Given the description of an element on the screen output the (x, y) to click on. 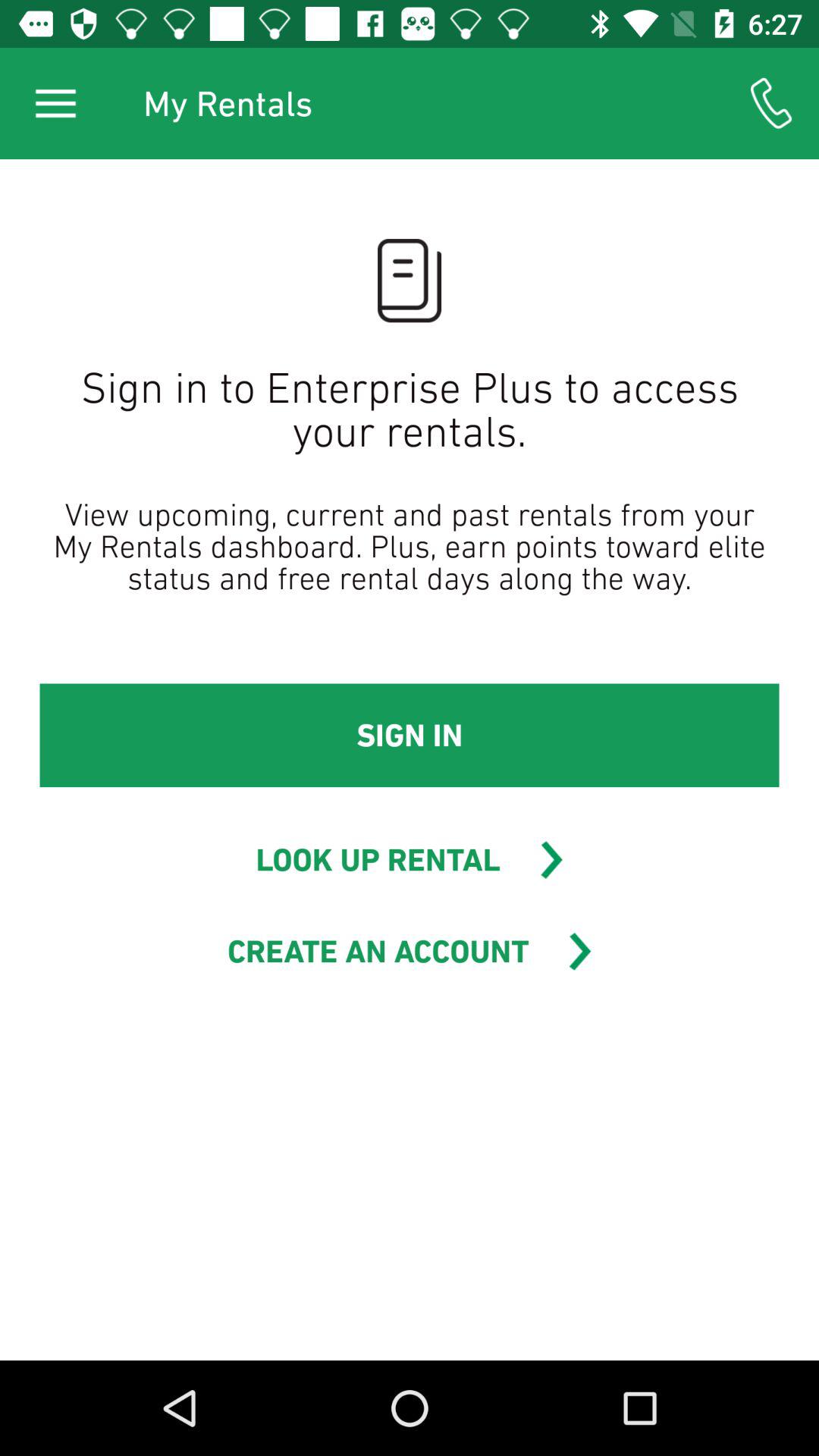
select icon above sign in to item (771, 103)
